Given the description of an element on the screen output the (x, y) to click on. 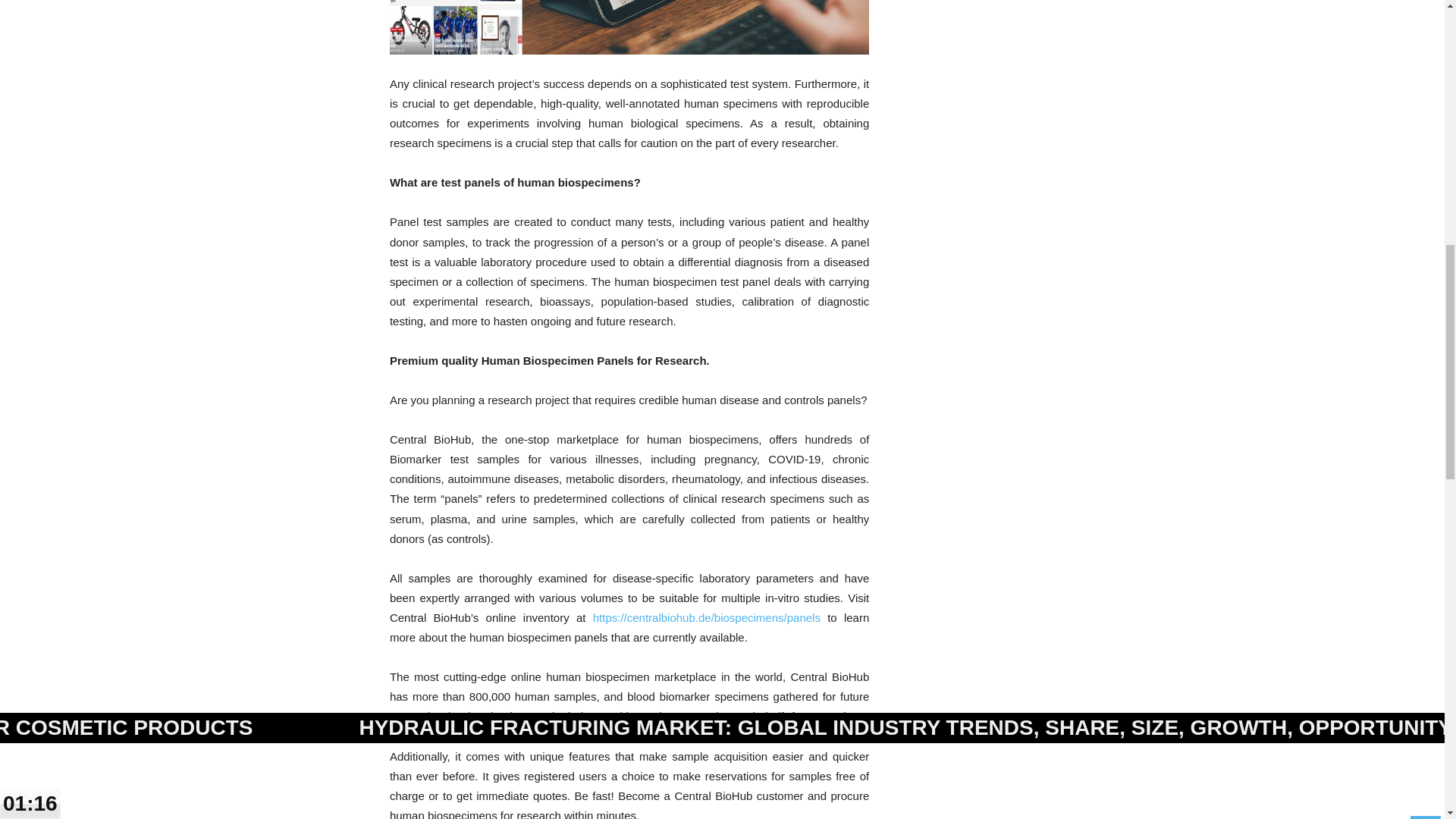
dailybusinesspost (629, 27)
